Given the description of an element on the screen output the (x, y) to click on. 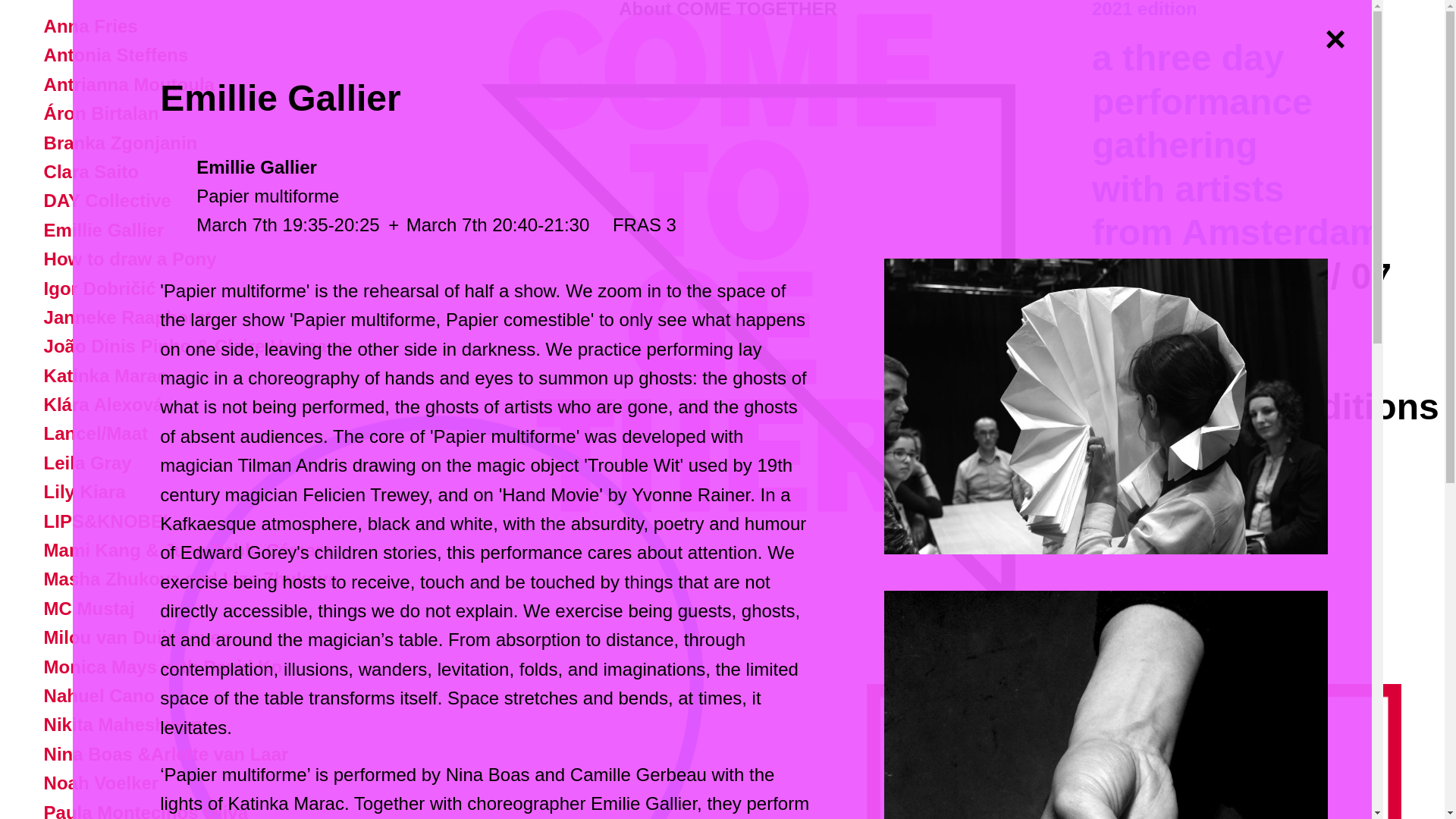
Emillie Gallier (103, 230)
Close (1335, 36)
tickets (1171, 363)
Branka Zgonjanin (120, 142)
Masha Zhukova and Liza Zhukova (190, 578)
About COME TOGETHER (727, 9)
Antrianna Moutoula (129, 84)
Antonia Steffens (116, 55)
timetable (1193, 320)
frontpage (1144, 9)
